Given the description of an element on the screen output the (x, y) to click on. 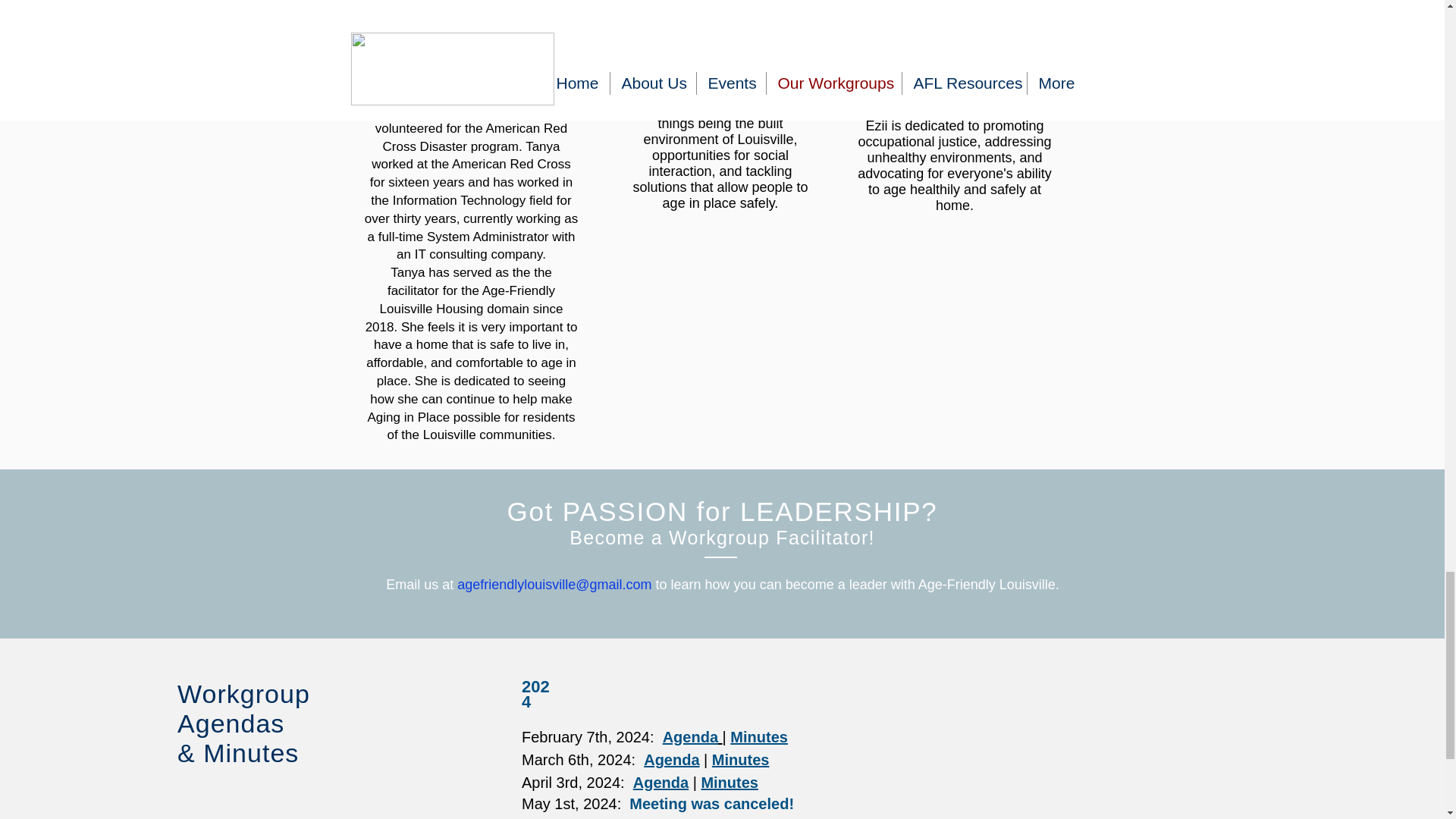
Agenda (692, 736)
Minutes (758, 736)
